Given the description of an element on the screen output the (x, y) to click on. 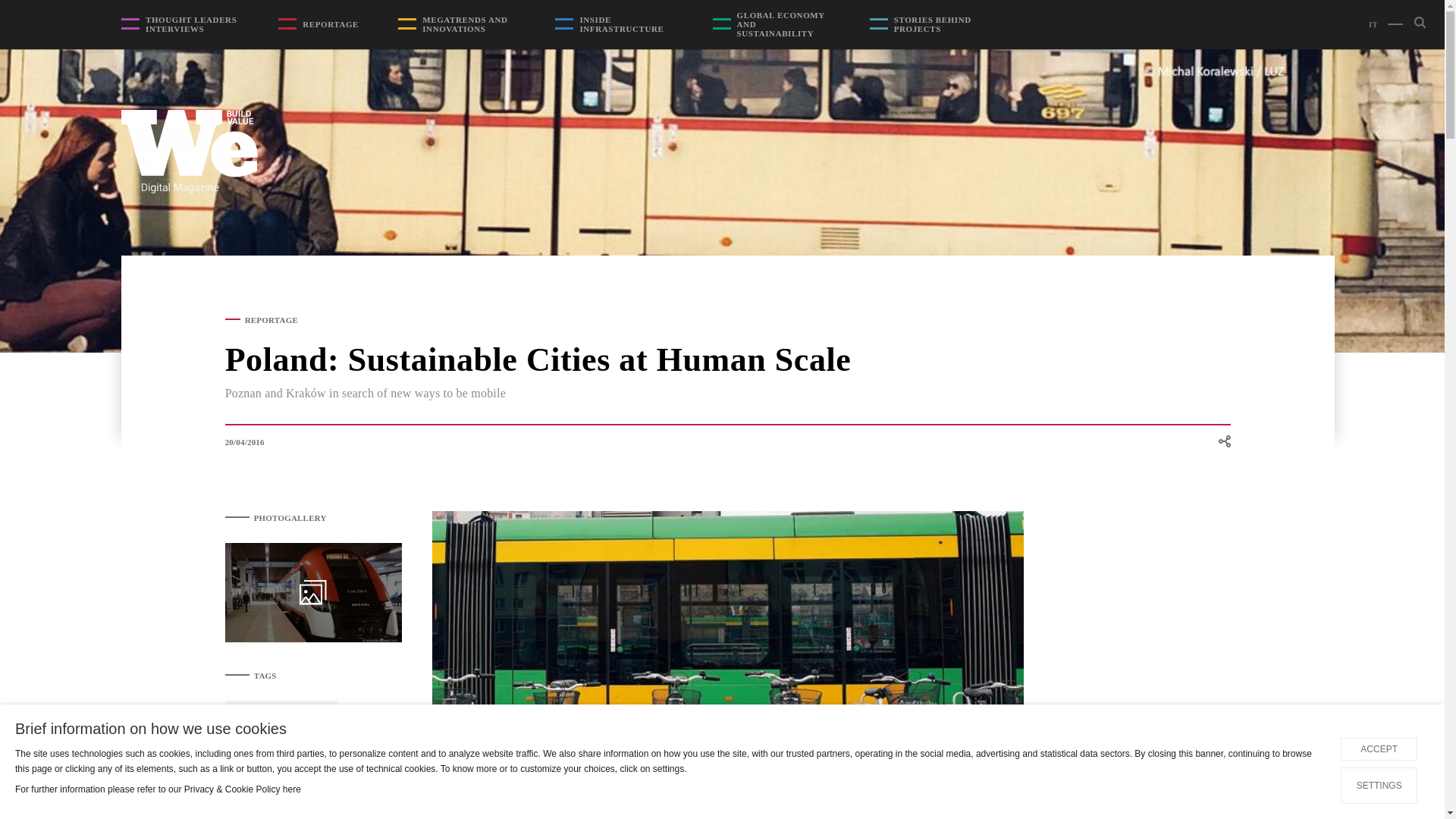
Close and Accept (1422, 725)
IT (1373, 23)
REPORTAGE (271, 319)
THOUGHT LEADERS INTERVIEWS (191, 24)
REPORTAGE (330, 23)
INSIDE INFRASTRUCTURE (625, 24)
STORIES BEHIND PROJECTS (940, 24)
GLOBAL ECONOMY AND SUSTAINABILITY (782, 23)
MEGATRENDS AND INNOVATIONS (468, 24)
